Given the description of an element on the screen output the (x, y) to click on. 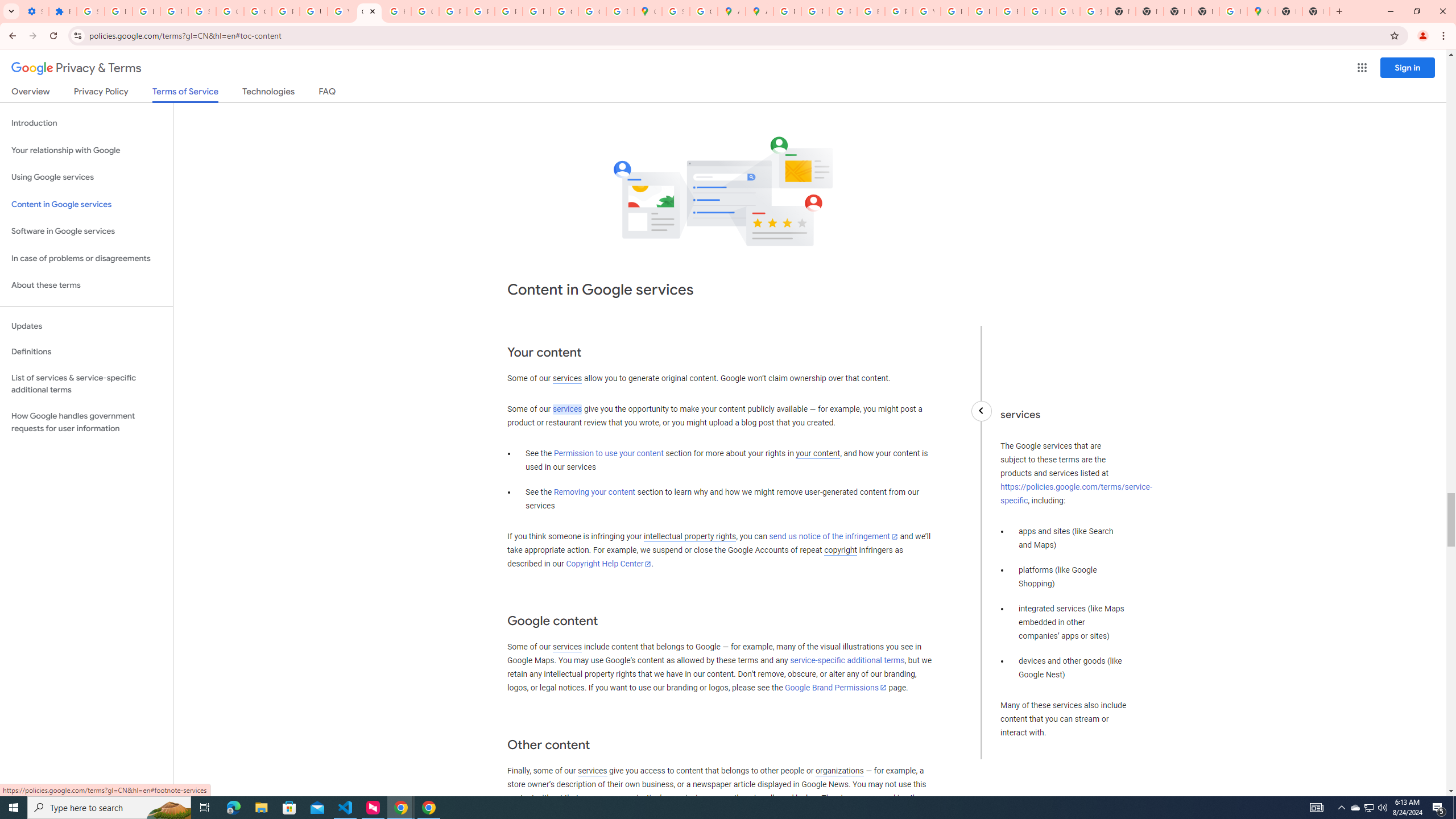
Privacy & Terms (76, 68)
New Tab (1205, 11)
